Given the description of an element on the screen output the (x, y) to click on. 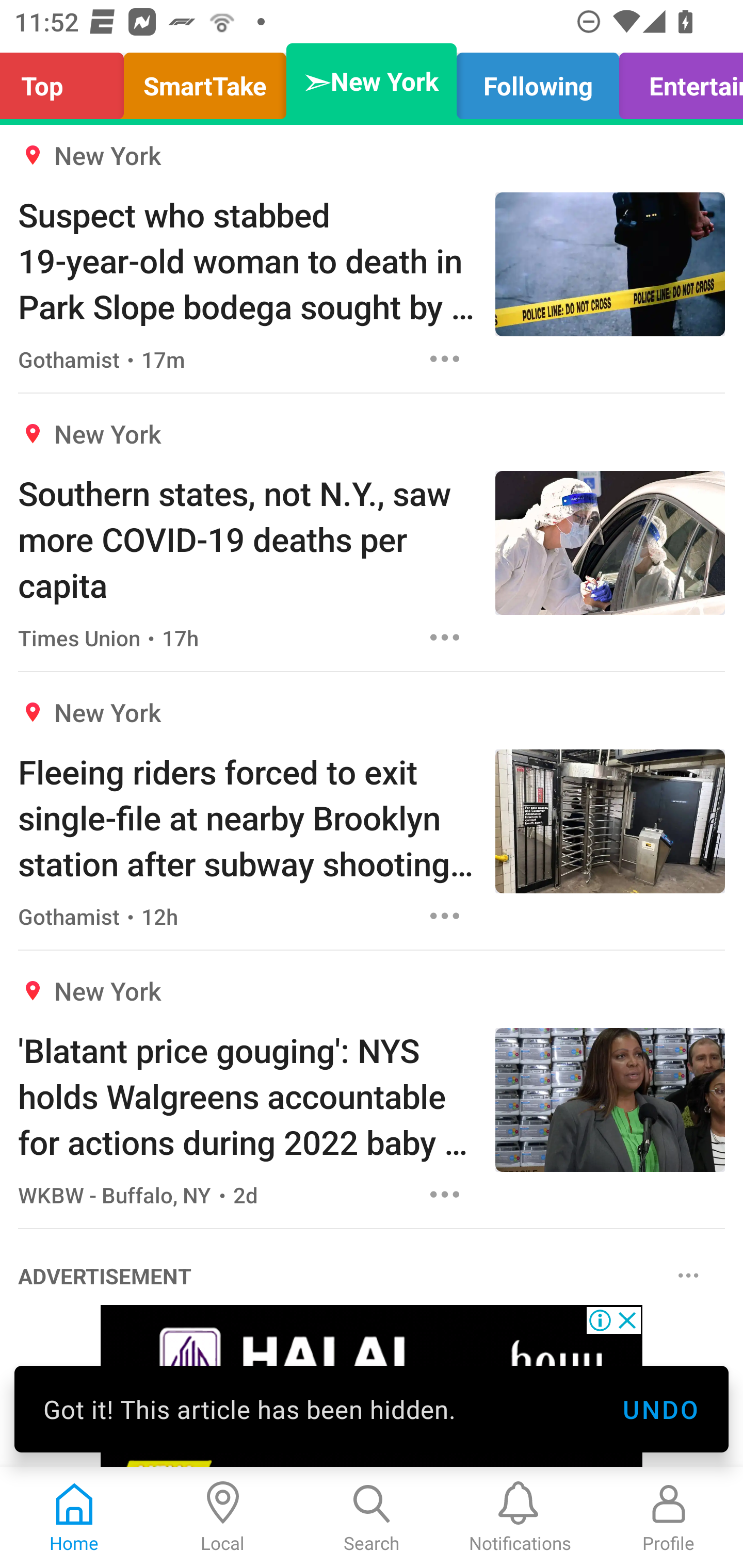
Top (67, 81)
SmartTake (204, 81)
➣New York (371, 81)
Following (537, 81)
Options (444, 359)
Options (444, 637)
Options (444, 915)
Options (444, 1194)
Options (688, 1275)
28 (371, 1385)
UNDO (660, 1408)
Local (222, 1517)
Search (371, 1517)
Notifications (519, 1517)
Profile (668, 1517)
